Given the description of an element on the screen output the (x, y) to click on. 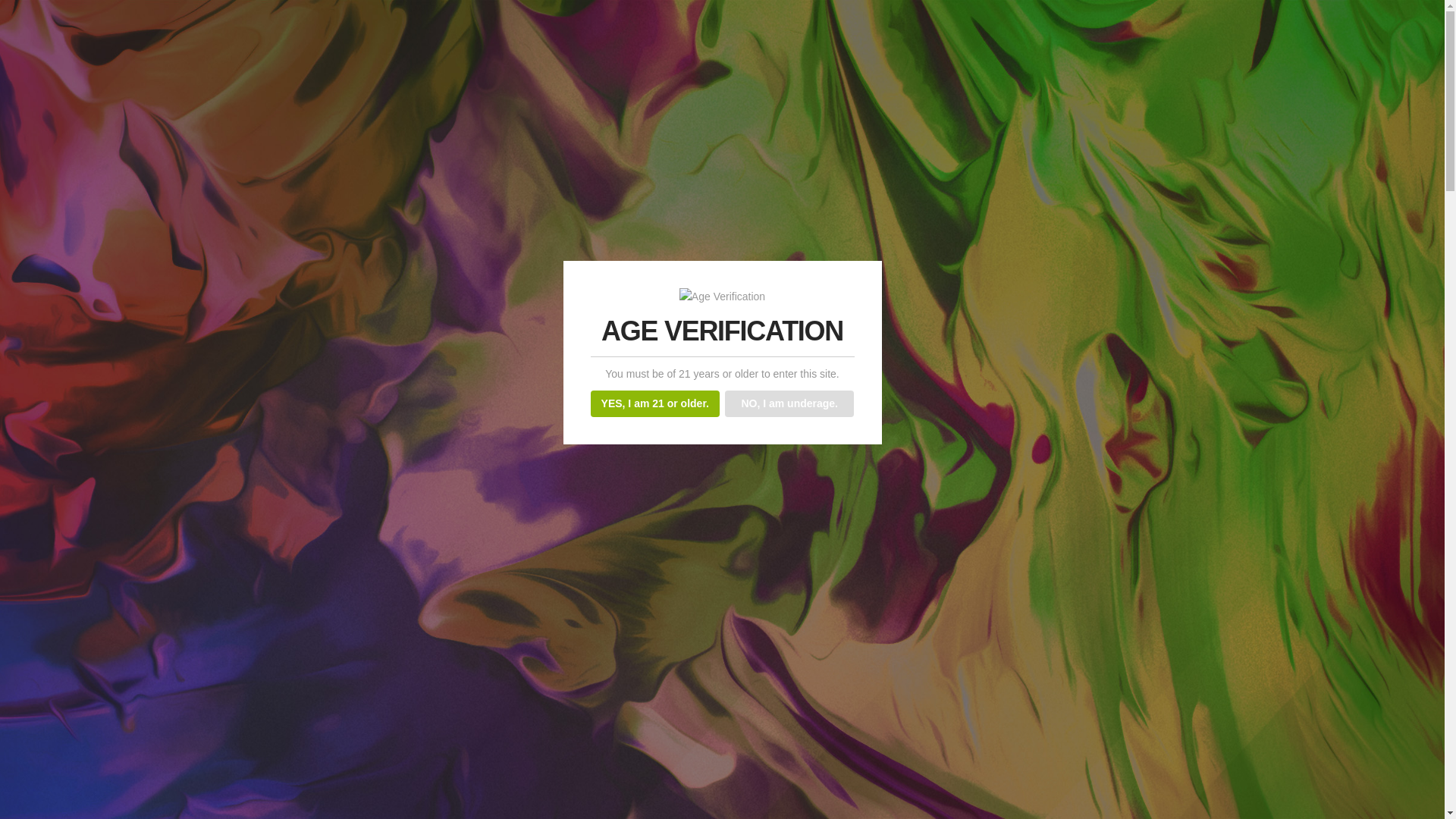
YES, I am 21 or older. Element type: text (655, 403)
Menu Element type: text (484, 524)
NO, I am underage. Element type: text (789, 403)
Home Element type: text (303, 524)
